Given the description of an element on the screen output the (x, y) to click on. 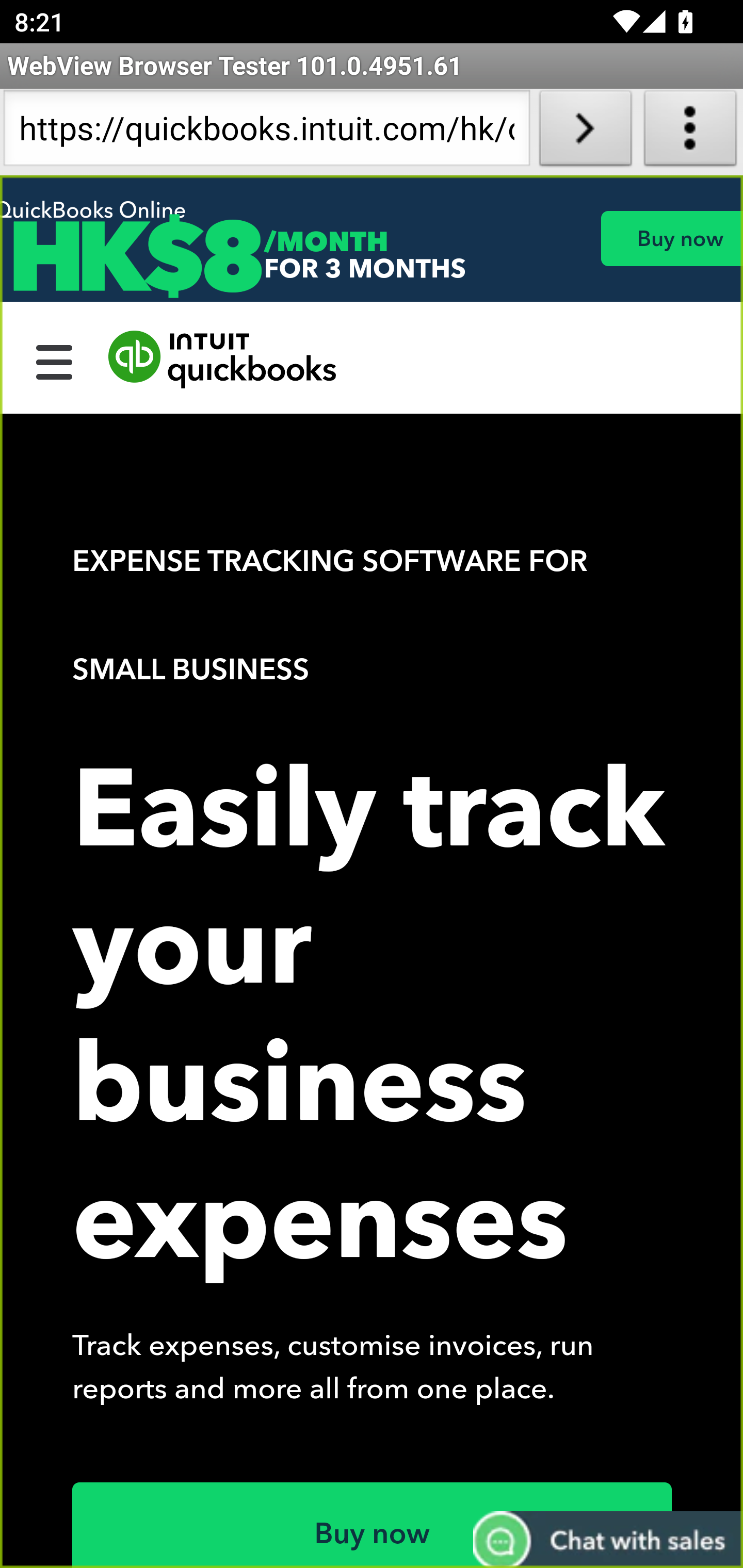
Load URL (585, 132)
About WebView (690, 132)
Buy now (671, 238)
quickbooks-mobile-burger (54, 359)
quickbooks (222, 359)
Buy now (372, 1524)
